Given the description of an element on the screen output the (x, y) to click on. 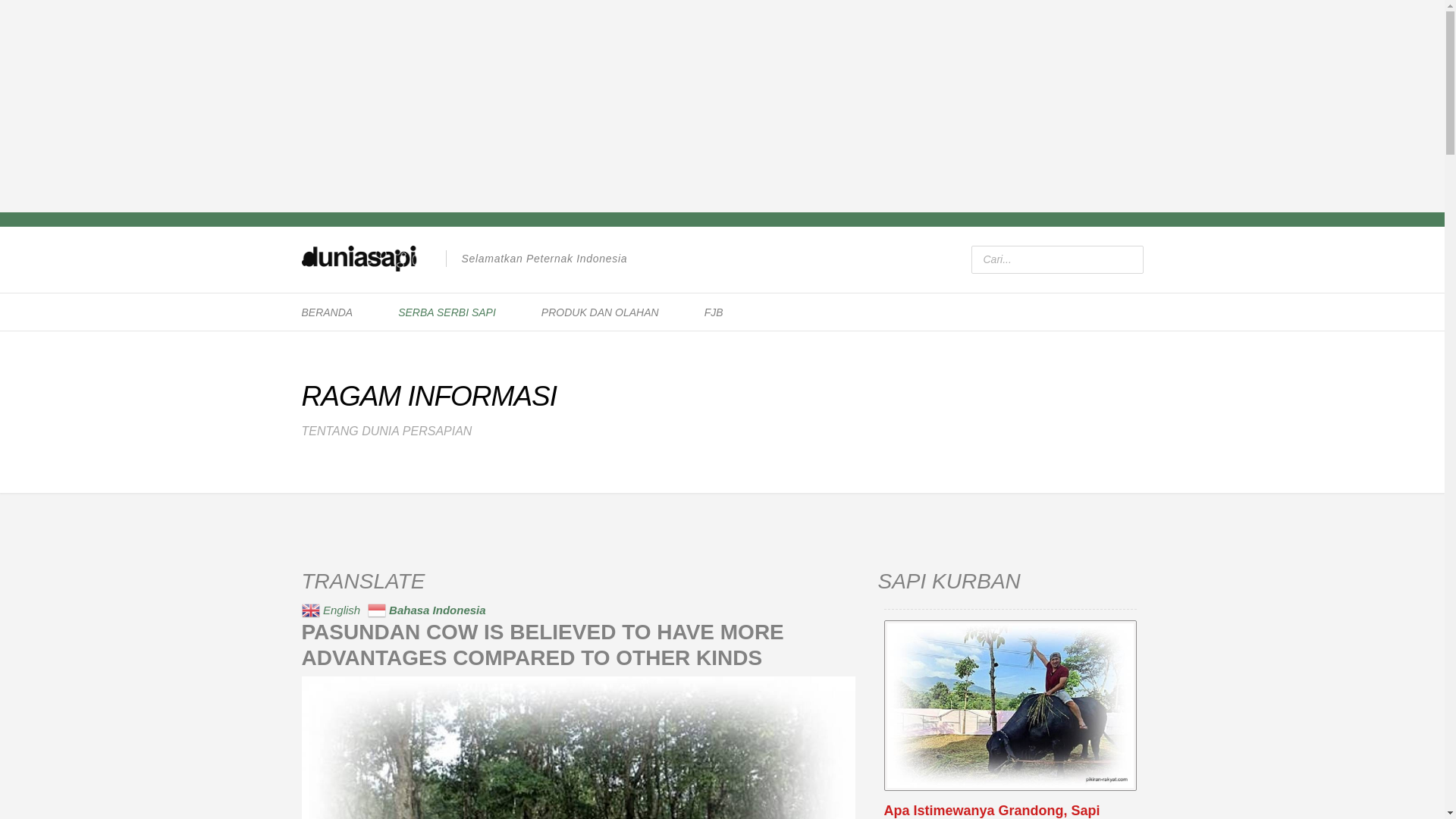
SERBA SERBI SAPI (446, 312)
Klik untuk melihat gambar (578, 747)
Bahasa Indonesia (428, 608)
PRODUK DAN OLAHAN (599, 312)
FJB (714, 312)
BERANDA (326, 312)
English (333, 608)
